Given the description of an element on the screen output the (x, y) to click on. 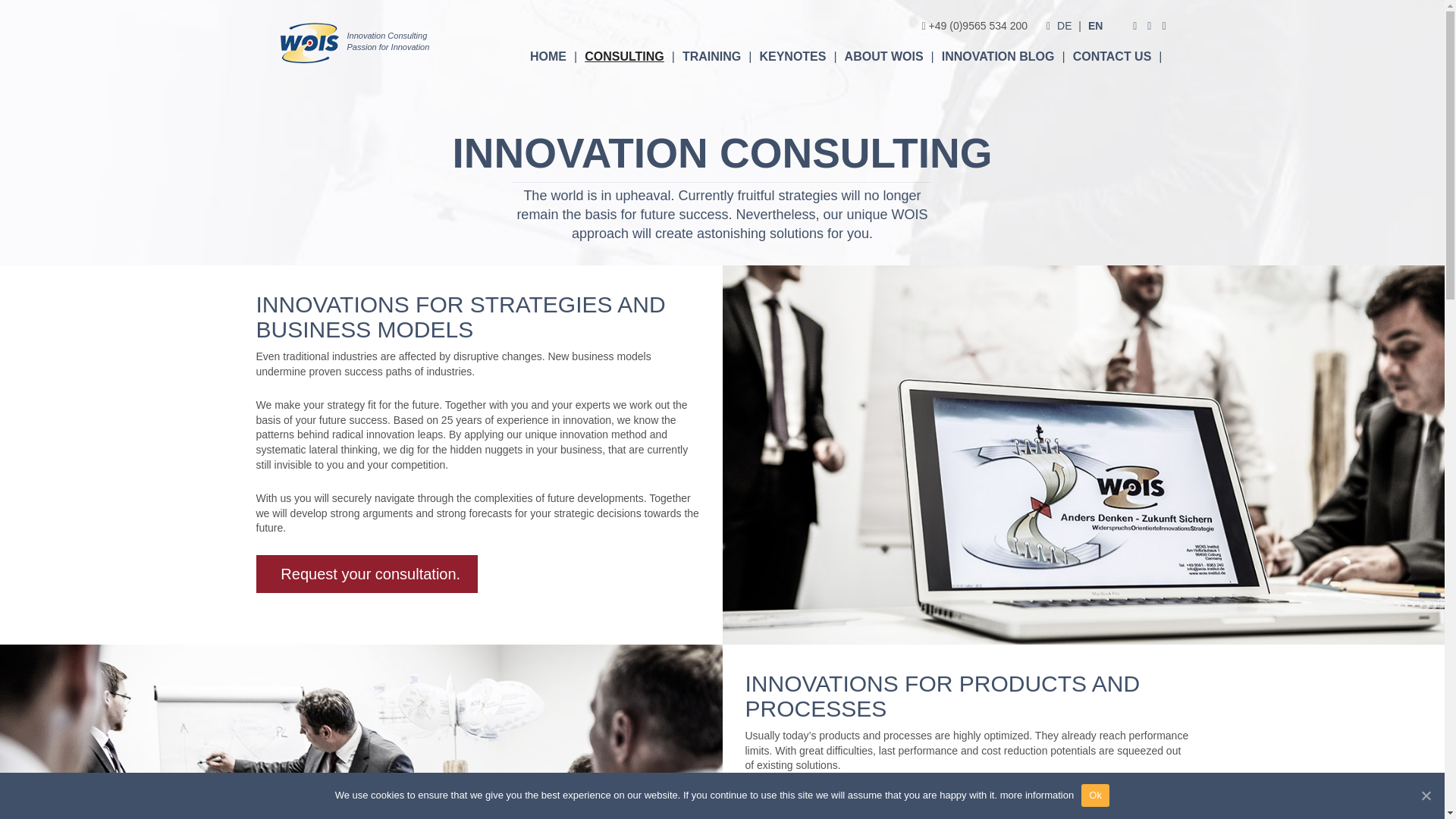
ABOUT WOIS (889, 56)
KEYNOTES (797, 56)
CONTACT US (1117, 56)
Request your consultation. (367, 573)
EN (1094, 25)
TRAINING (716, 56)
Ok (1095, 794)
CONSULTING (629, 56)
WOIS Institut (1064, 25)
DE (1064, 25)
HOME (552, 56)
WOIS Institute (1094, 25)
more information (1037, 794)
INNOVATION BLOG (1002, 56)
